Given the description of an element on the screen output the (x, y) to click on. 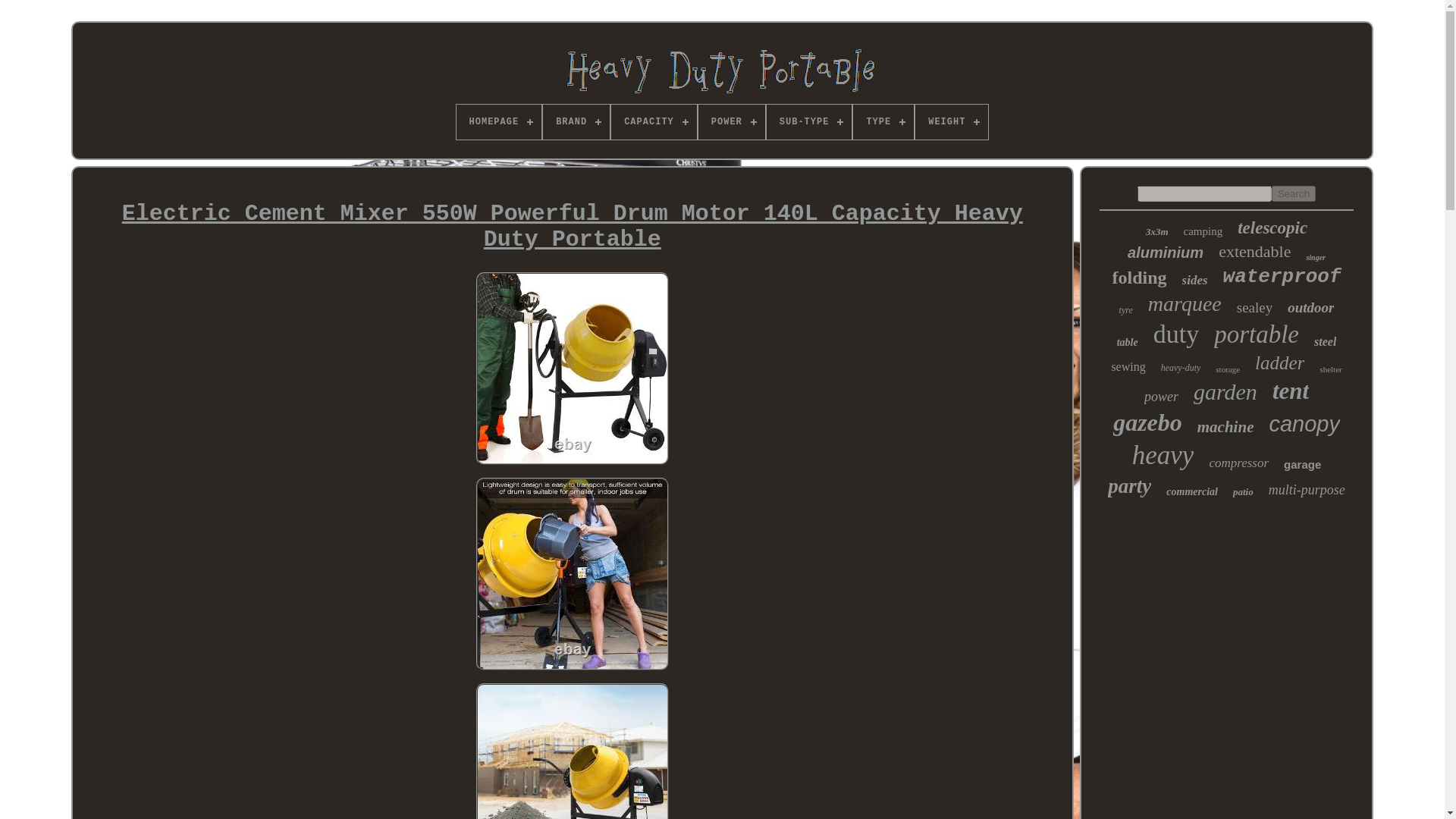
BRAND (576, 121)
Search (1293, 193)
HOMEPAGE (499, 121)
CAPACITY (654, 121)
